Given the description of an element on the screen output the (x, y) to click on. 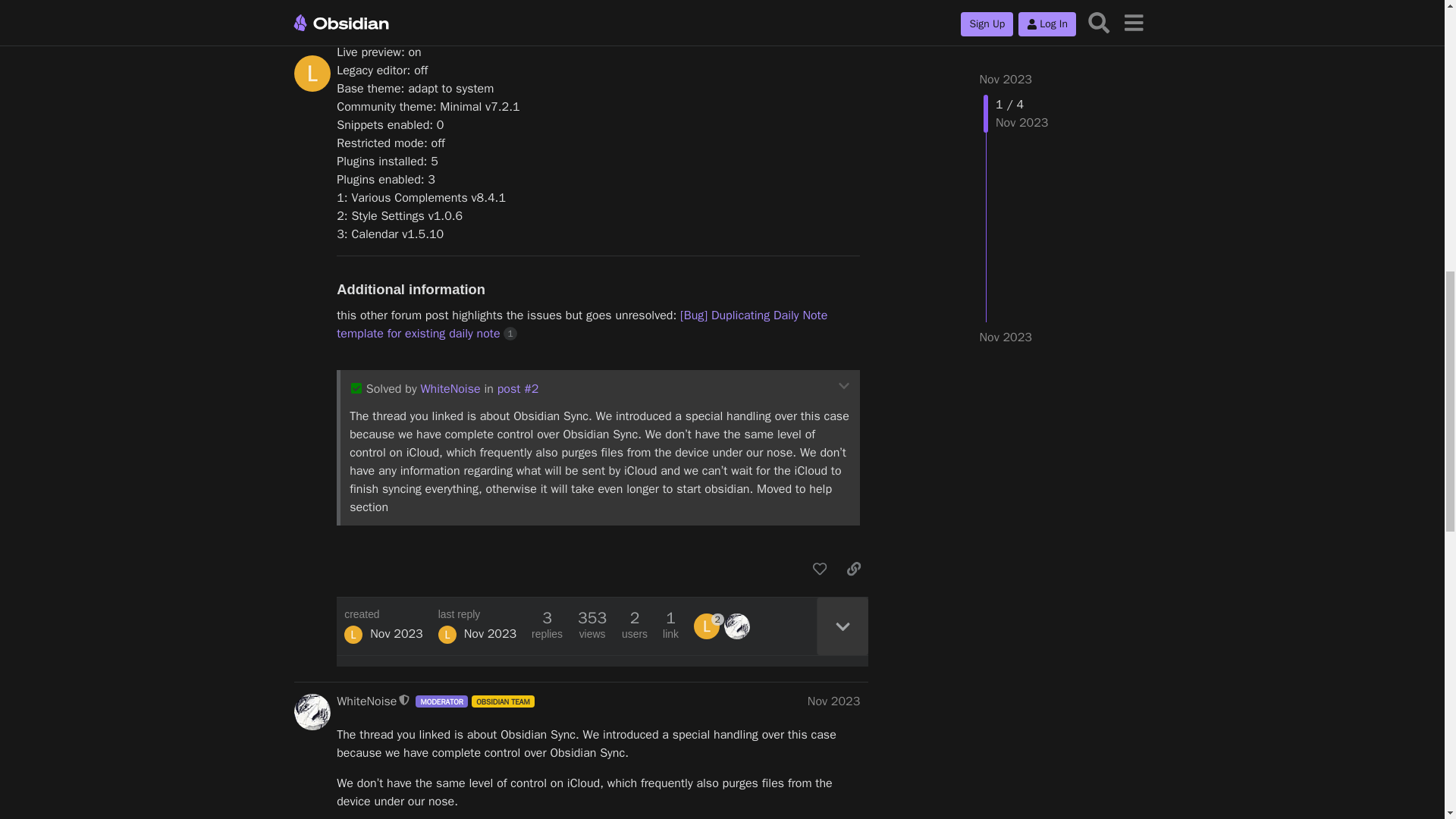
like this post (819, 568)
2 (708, 626)
expand topic details (841, 626)
WhiteNoise (366, 701)
copy a link to this post to clipboard (853, 568)
Nov 2023 (834, 701)
last reply (477, 614)
Nov 7, 2023 11:24 am (395, 633)
WhiteNoise (450, 388)
1 click (509, 332)
